Given the description of an element on the screen output the (x, y) to click on. 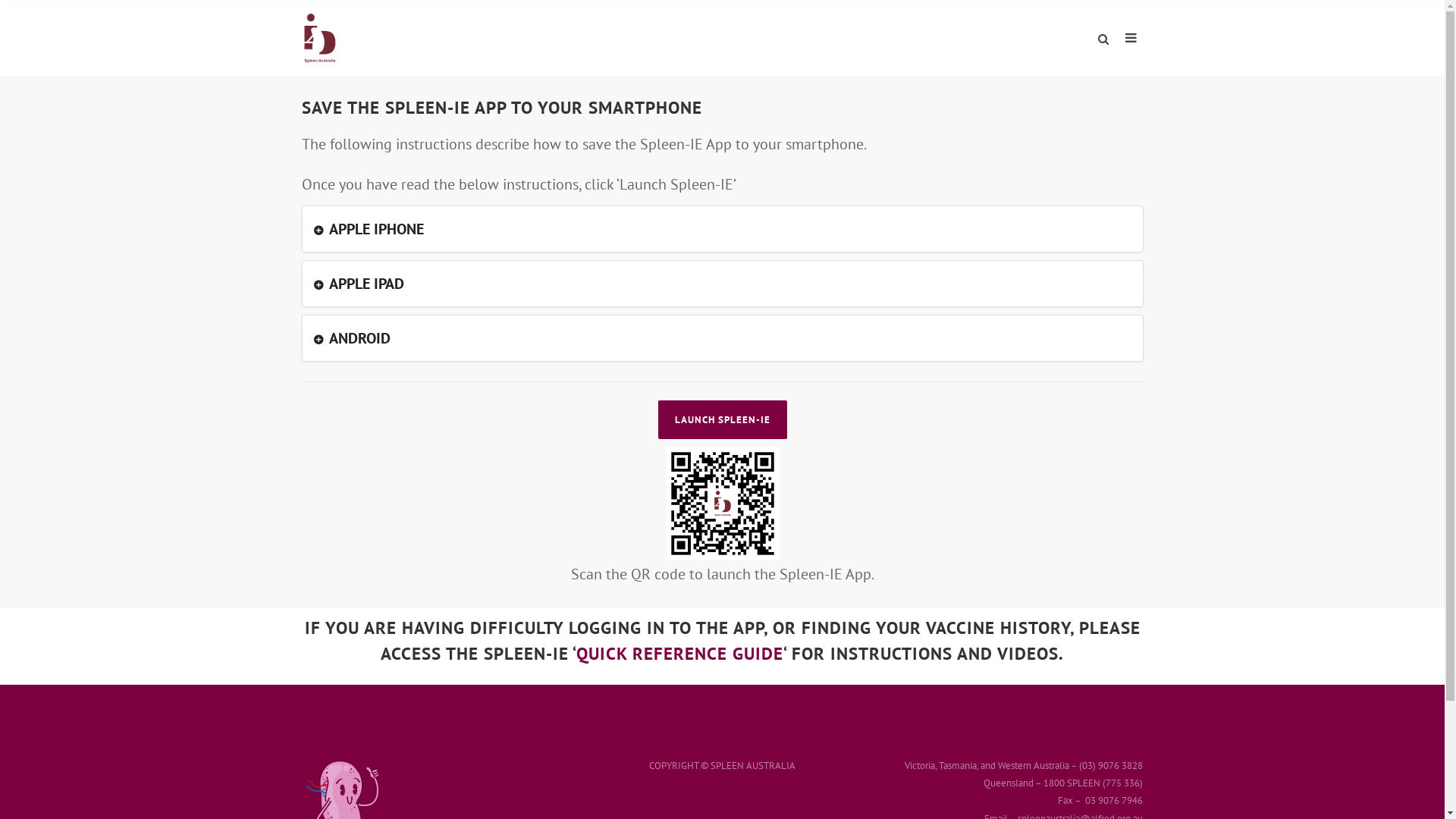
QUICK REFERENCE GUIDE Element type: text (679, 653)
LAUNCH SPLEEN-IE Element type: text (722, 419)
